Given the description of an element on the screen output the (x, y) to click on. 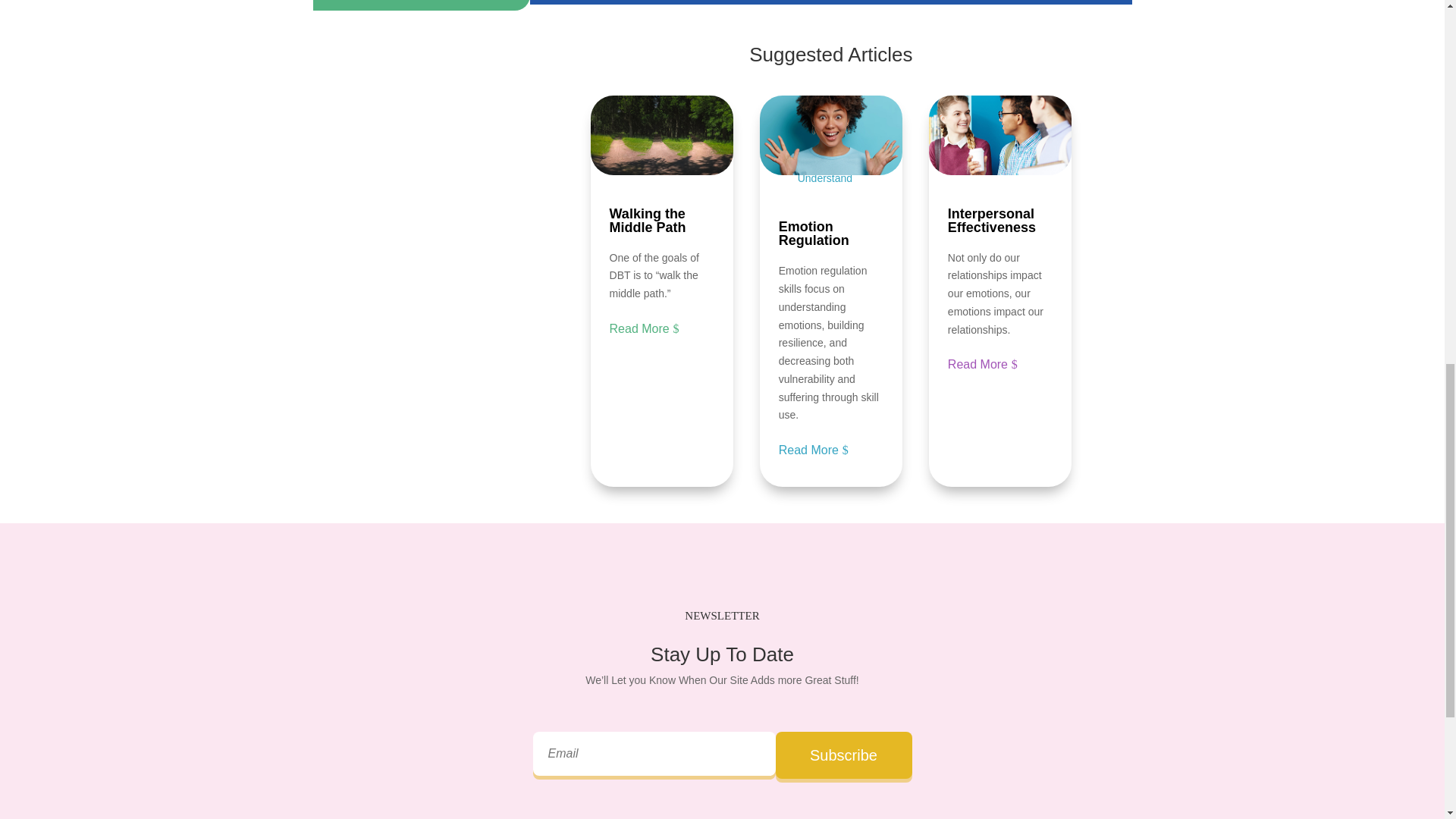
middle-path-blog (662, 135)
interpersonal effectiveness blog (999, 135)
emotion regulation blog (831, 135)
